Given the description of an element on the screen output the (x, y) to click on. 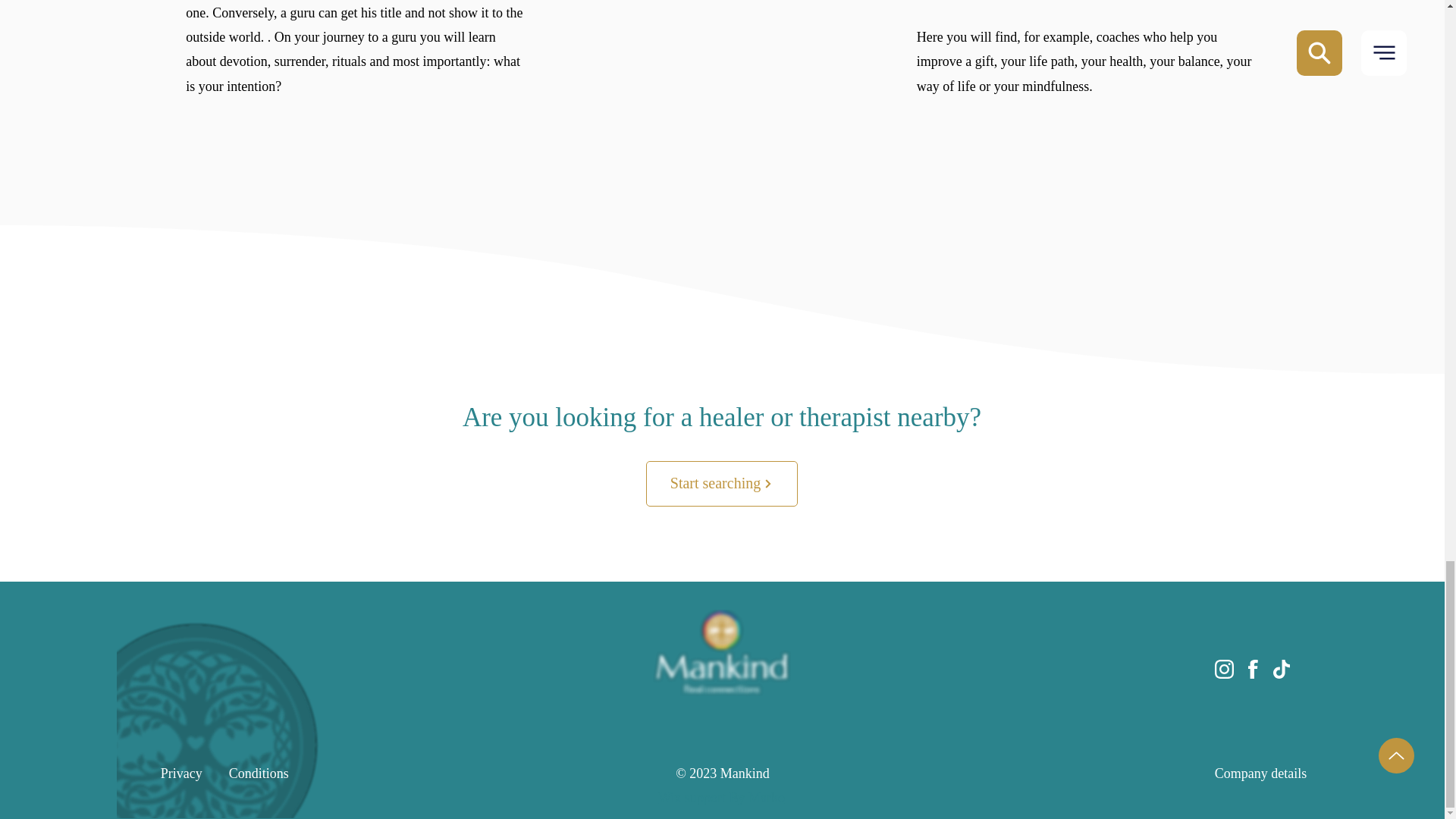
Privacy (181, 773)
Company details (1260, 773)
Start searching (721, 483)
Wix support By Marko (721, 797)
Conditions (258, 773)
